Given the description of an element on the screen output the (x, y) to click on. 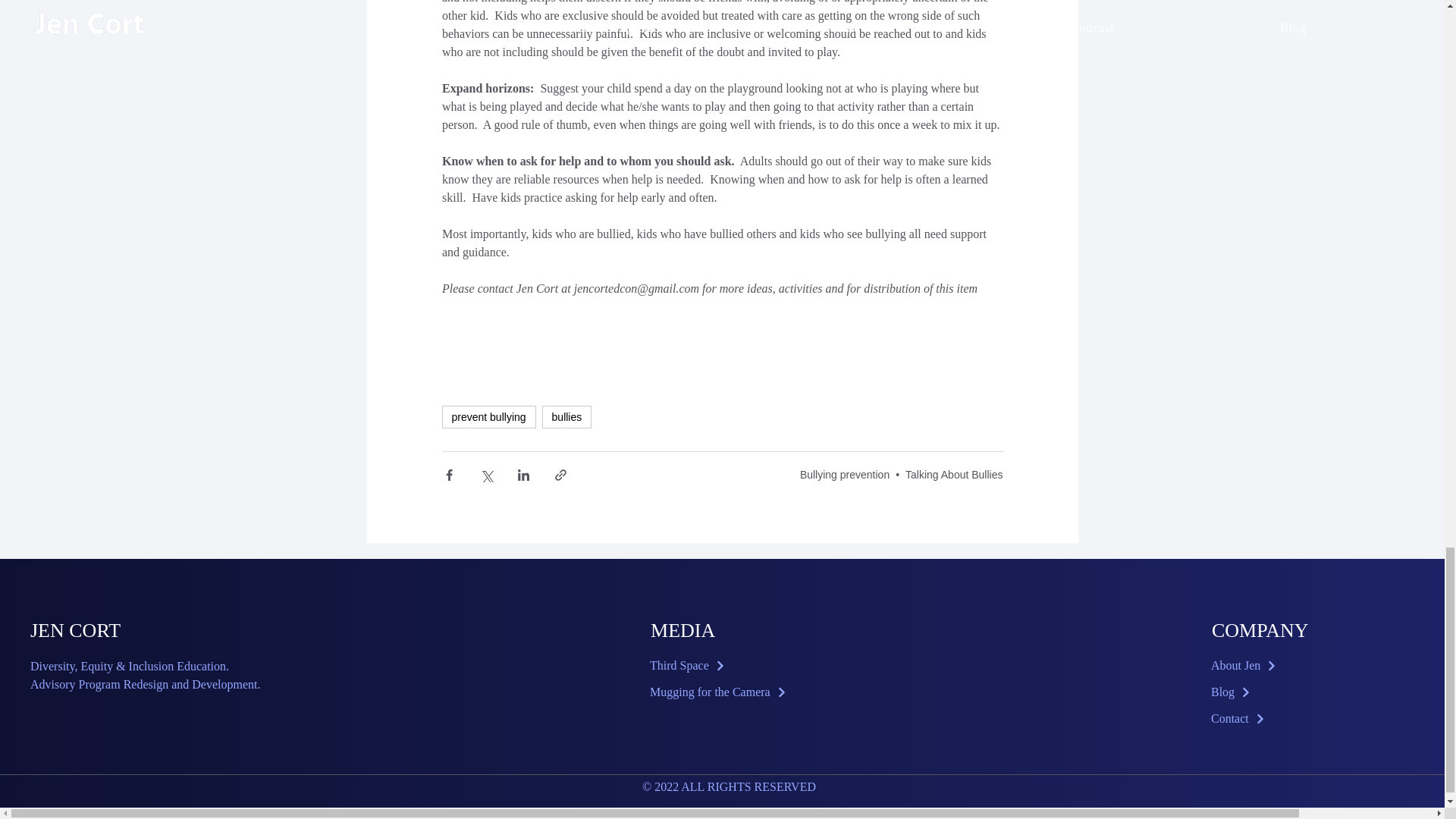
prevent bullying (488, 416)
Third Space (727, 665)
About Jen (1289, 665)
Contact (1289, 718)
Talking About Bullies (954, 474)
Bullying prevention (844, 474)
Blog (1289, 692)
bullies (566, 416)
Mugging for the Camera (727, 692)
